Given the description of an element on the screen output the (x, y) to click on. 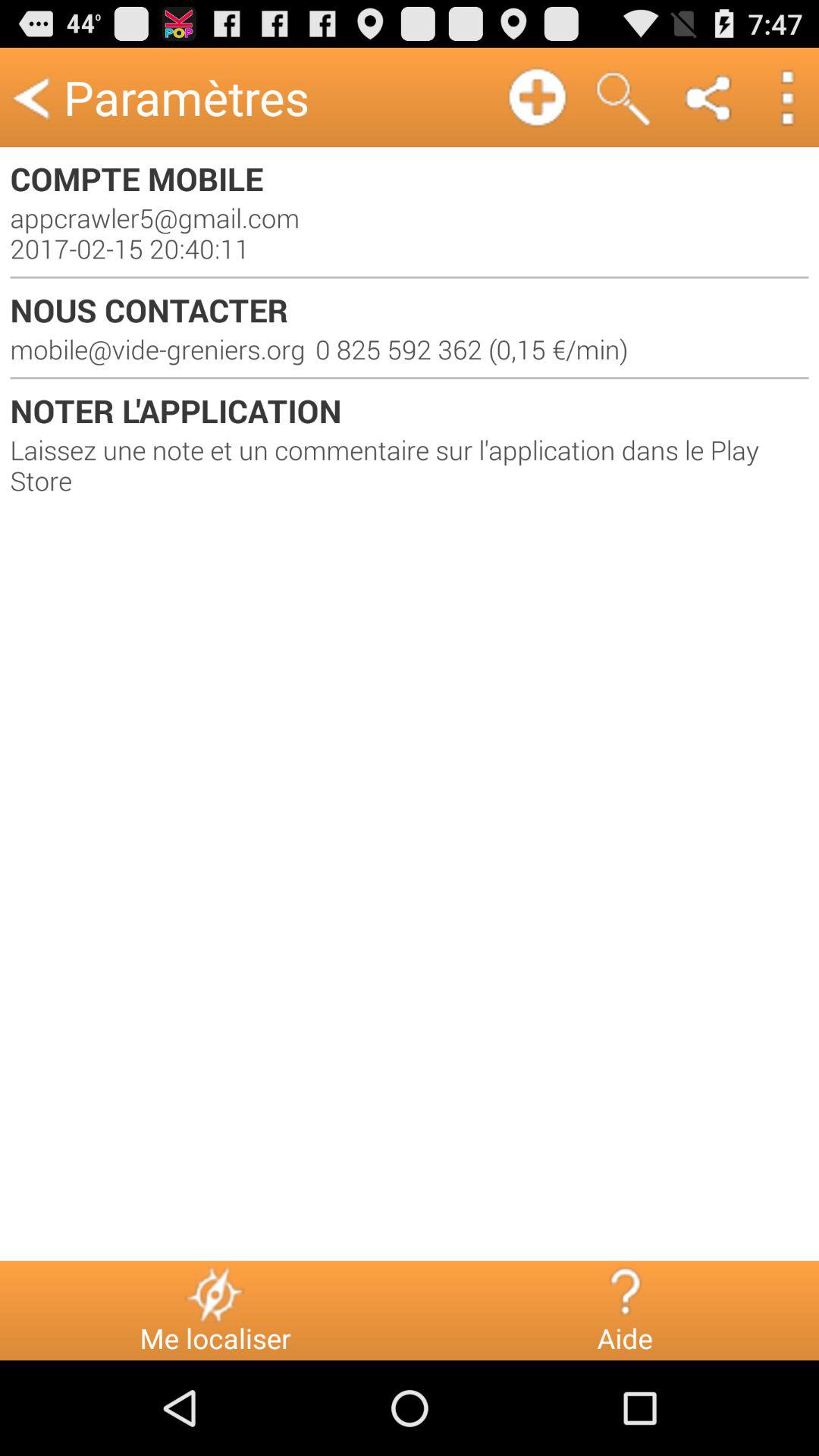
press the icon next to the me localiser icon (624, 1293)
